Given the description of an element on the screen output the (x, y) to click on. 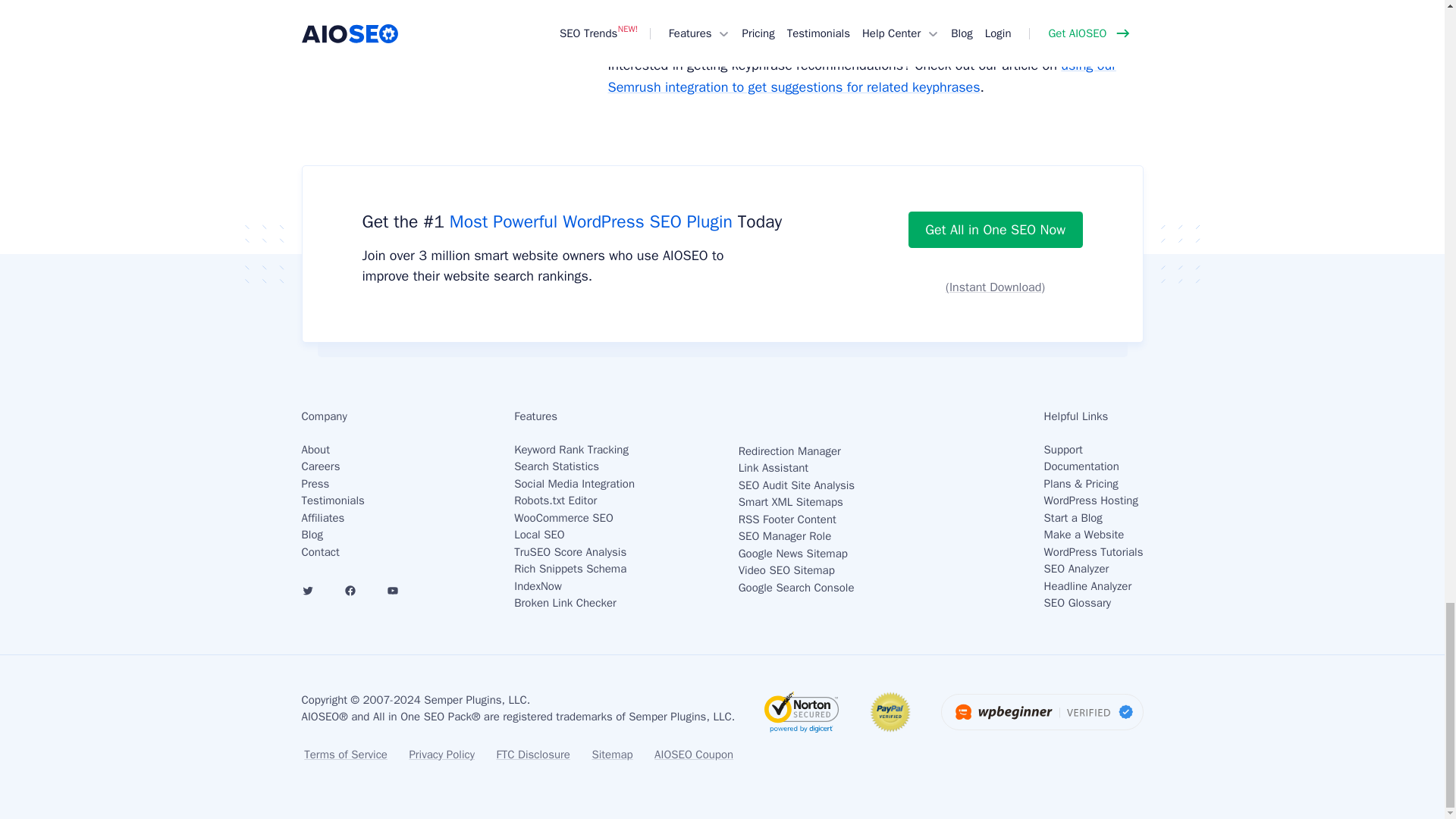
Blog (312, 534)
About Us (315, 449)
Careers (320, 466)
All in One SEO Affiliate Program (323, 517)
Contact Us (320, 551)
